Given the description of an element on the screen output the (x, y) to click on. 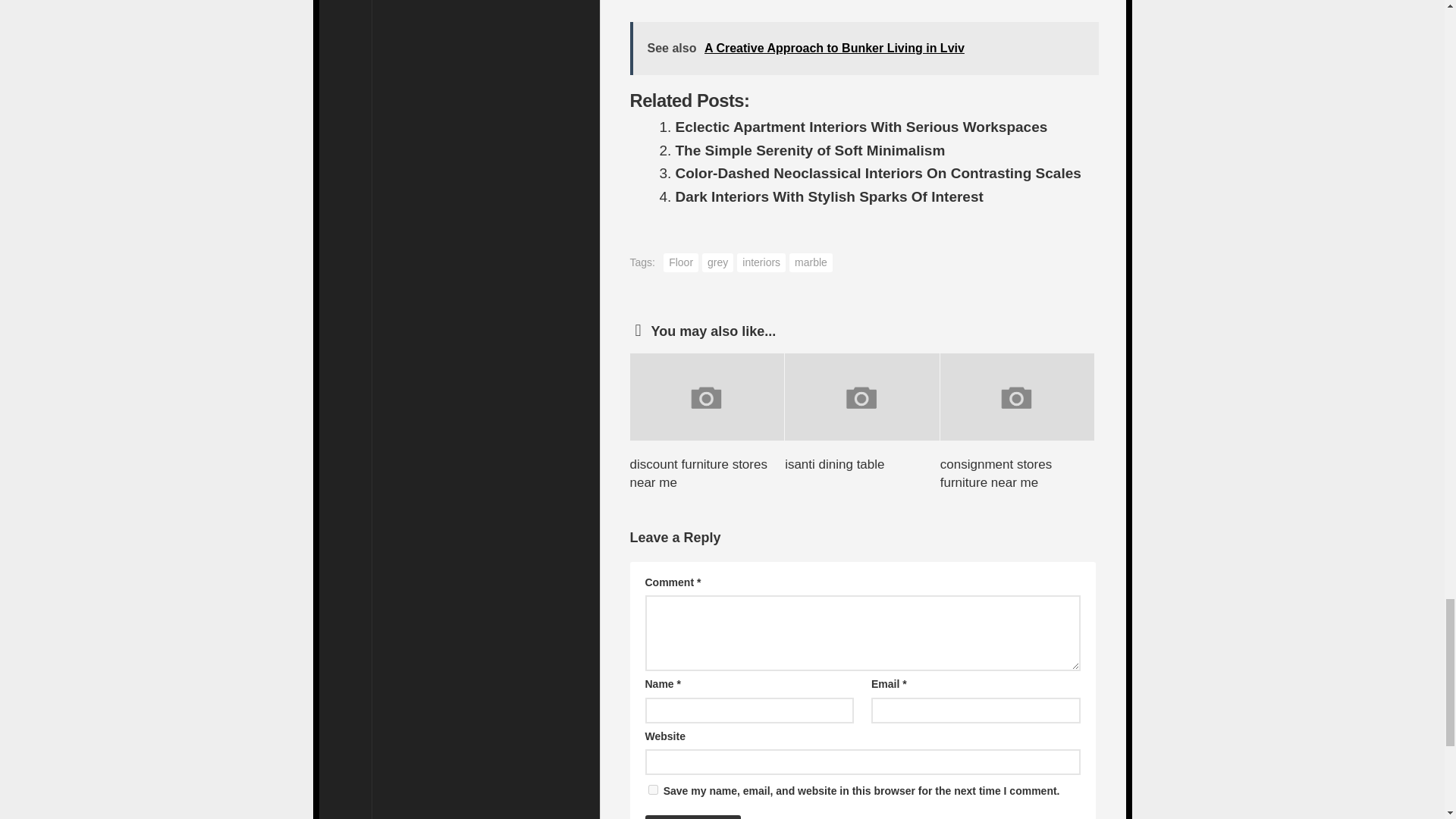
yes (652, 789)
Eclectic Apartment Interiors With Serious Workspaces (860, 126)
Floor (680, 262)
discount furniture stores near me (697, 473)
marble (810, 262)
Dark Interiors With Stylish Sparks Of Interest (828, 196)
Eclectic Apartment Interiors With Serious Workspaces (860, 126)
Dark Interiors With Stylish Sparks Of Interest (828, 196)
See also  A Creative Approach to Bunker Living in Lviv (862, 48)
Color-Dashed Neoclassical Interiors On Contrasting Scales (877, 172)
isanti dining table (833, 464)
interiors (761, 262)
Post Comment (693, 816)
grey (717, 262)
The Simple Serenity of Soft Minimalism (809, 150)
